Given the description of an element on the screen output the (x, y) to click on. 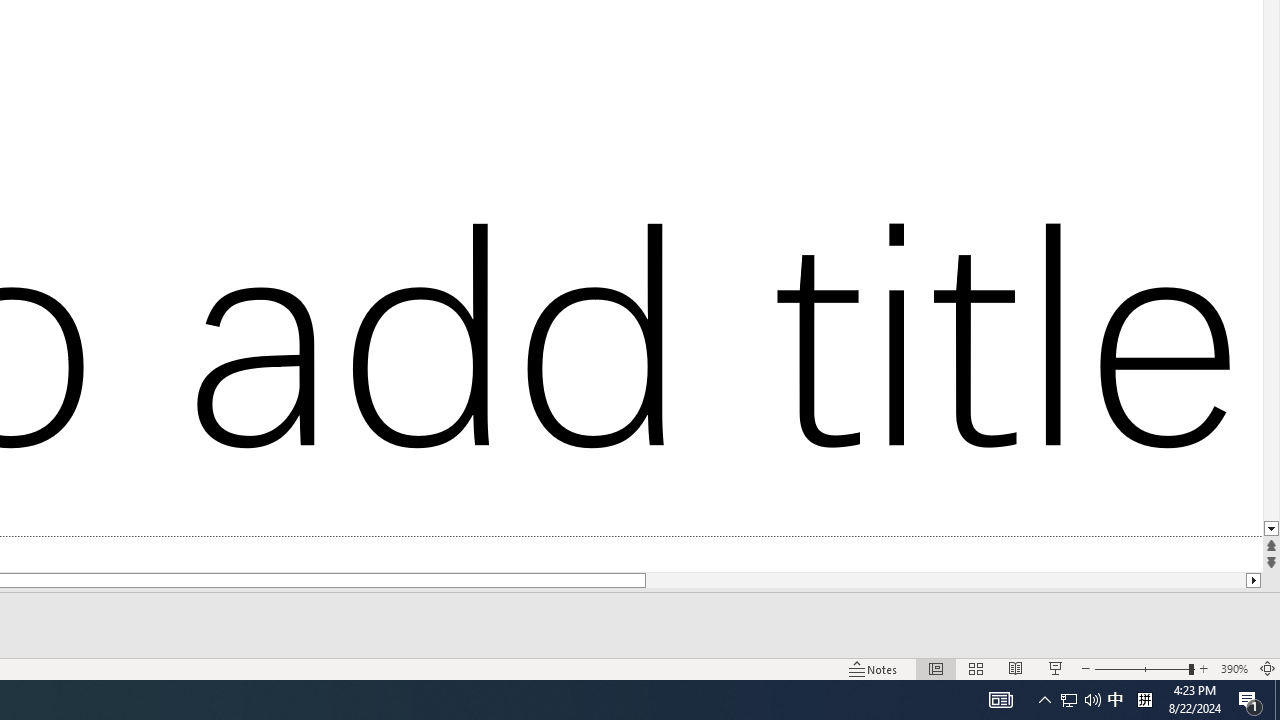
Zoom 390% (1234, 668)
